Given the description of an element on the screen output the (x, y) to click on. 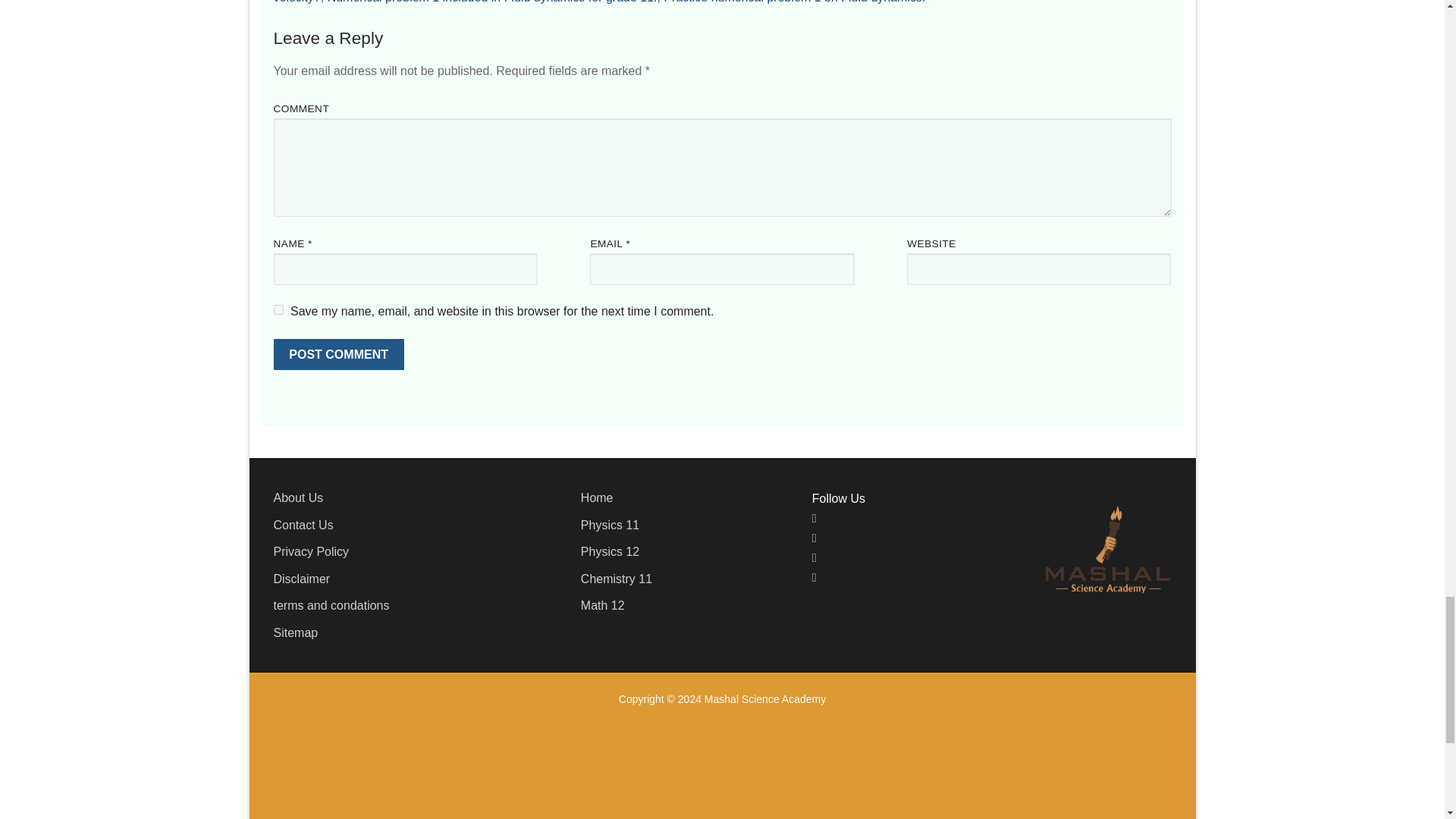
Home (596, 497)
Physics 11 (609, 524)
yes (277, 309)
Math 12 (602, 604)
Post Comment (338, 355)
Physics 12 (609, 551)
terms and condations (330, 604)
Disclaimer (301, 578)
Privacy Policy (311, 551)
Post Comment (338, 355)
